Given the description of an element on the screen output the (x, y) to click on. 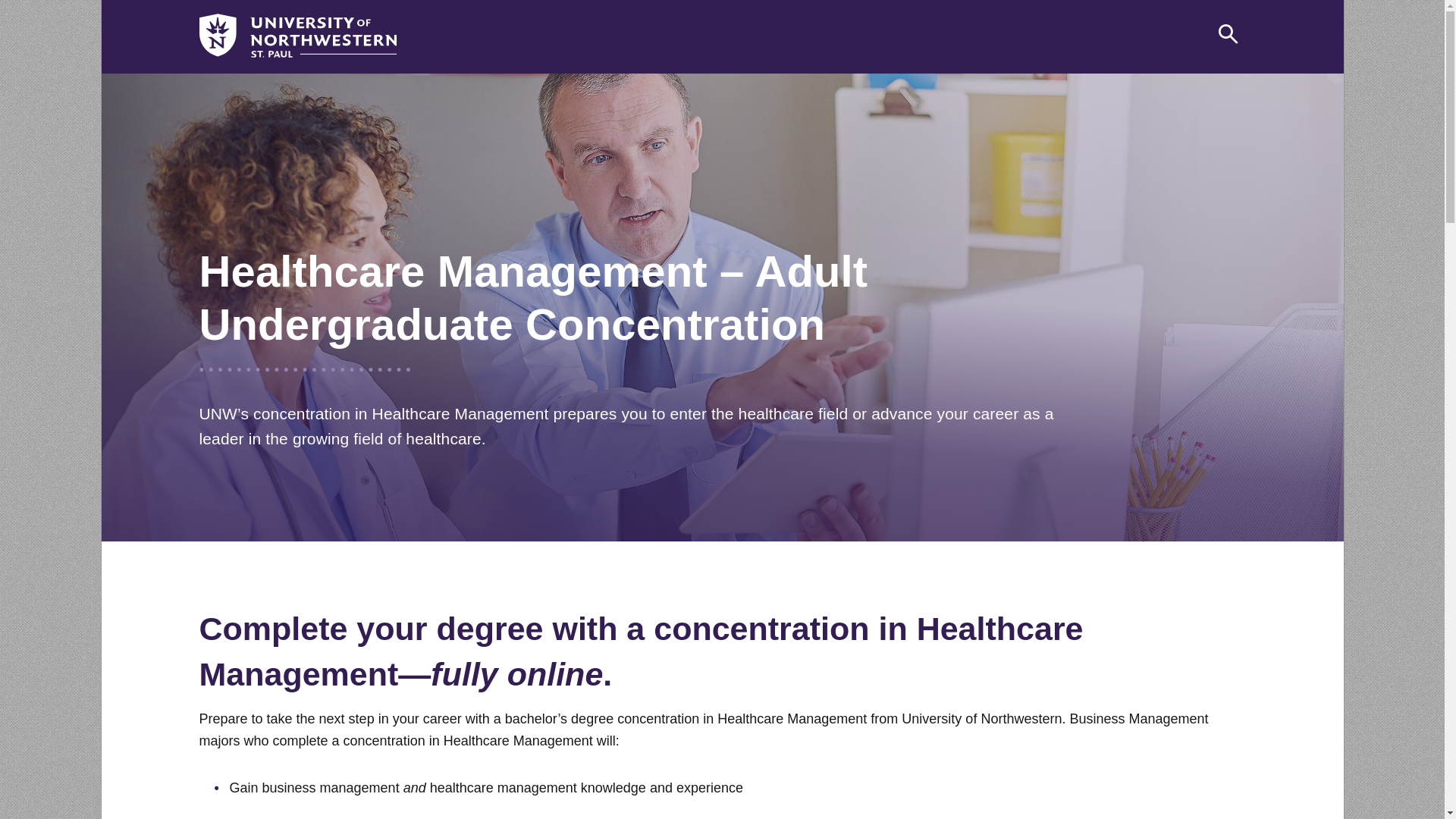
Logo Header (297, 35)
